Given the description of an element on the screen output the (x, y) to click on. 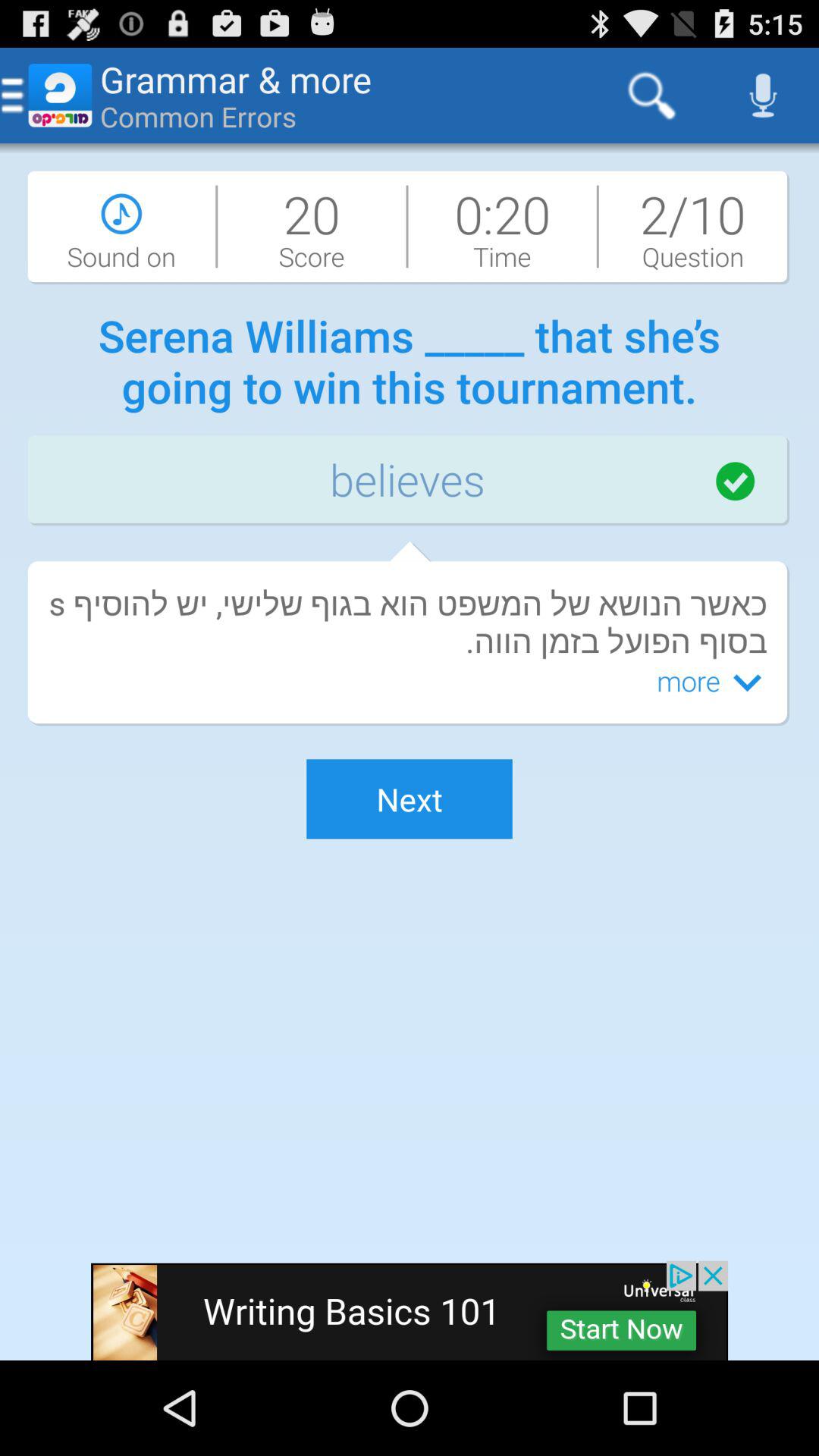
advertisement (409, 1310)
